Given the description of an element on the screen output the (x, y) to click on. 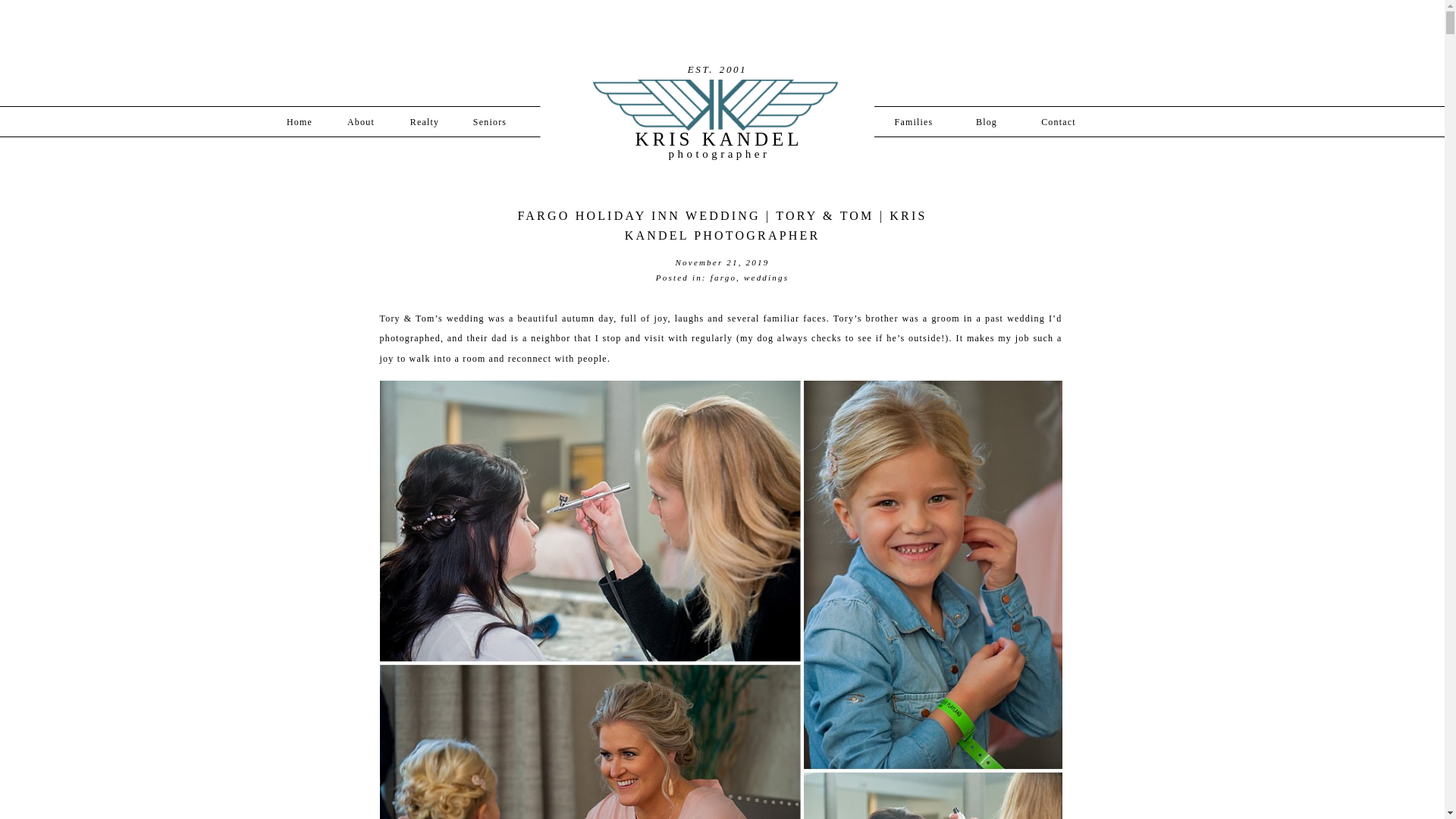
Contact (1058, 119)
About (360, 119)
Blog (985, 119)
fargo (723, 276)
Realty (424, 119)
weddings (766, 276)
Families (912, 119)
Home (299, 119)
Seniors (488, 119)
